Given the description of an element on the screen output the (x, y) to click on. 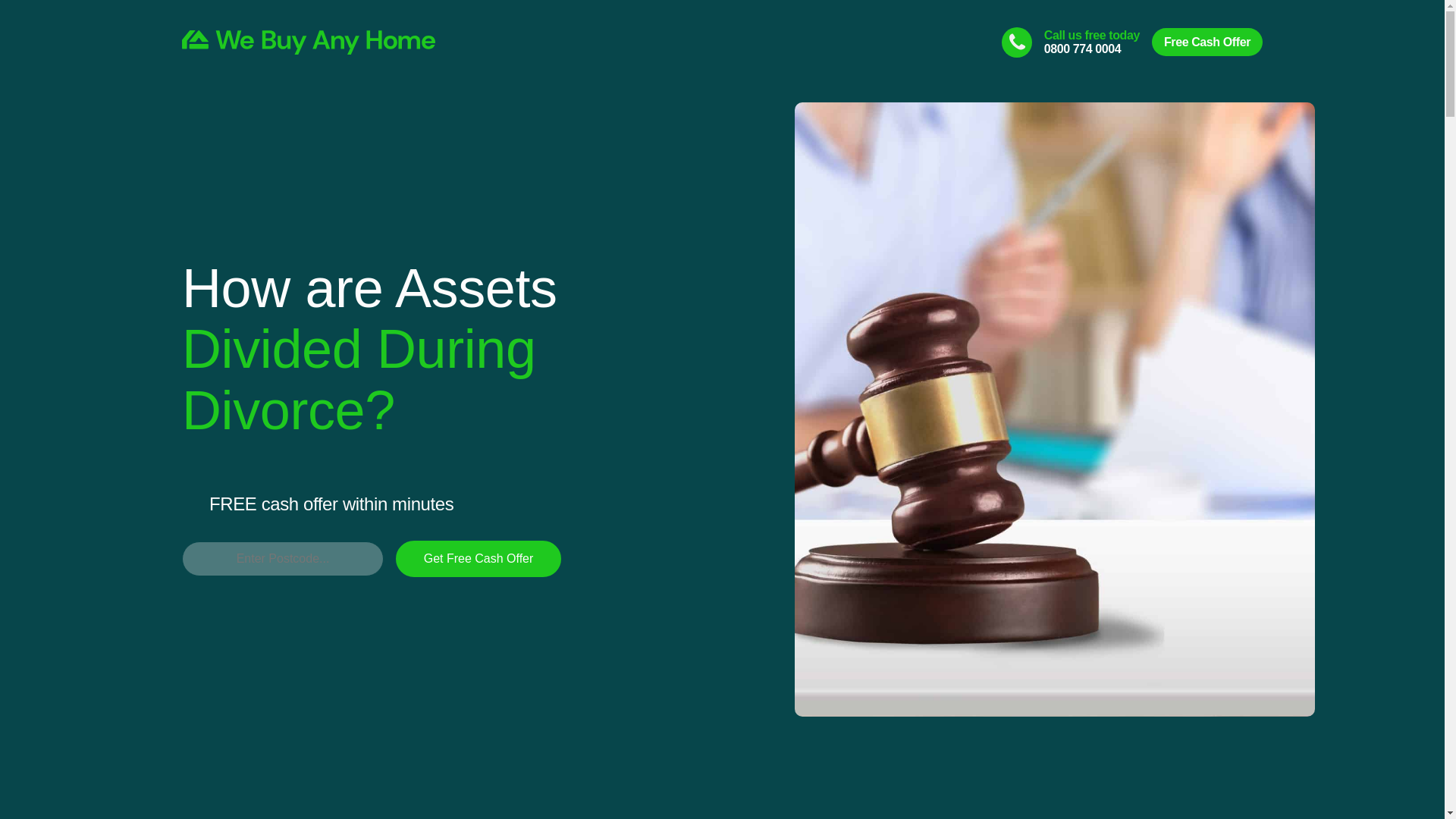
0800 774 0004 (1082, 48)
Free Cash Offer (1206, 41)
Get Free Cash Offer (478, 558)
